Given the description of an element on the screen output the (x, y) to click on. 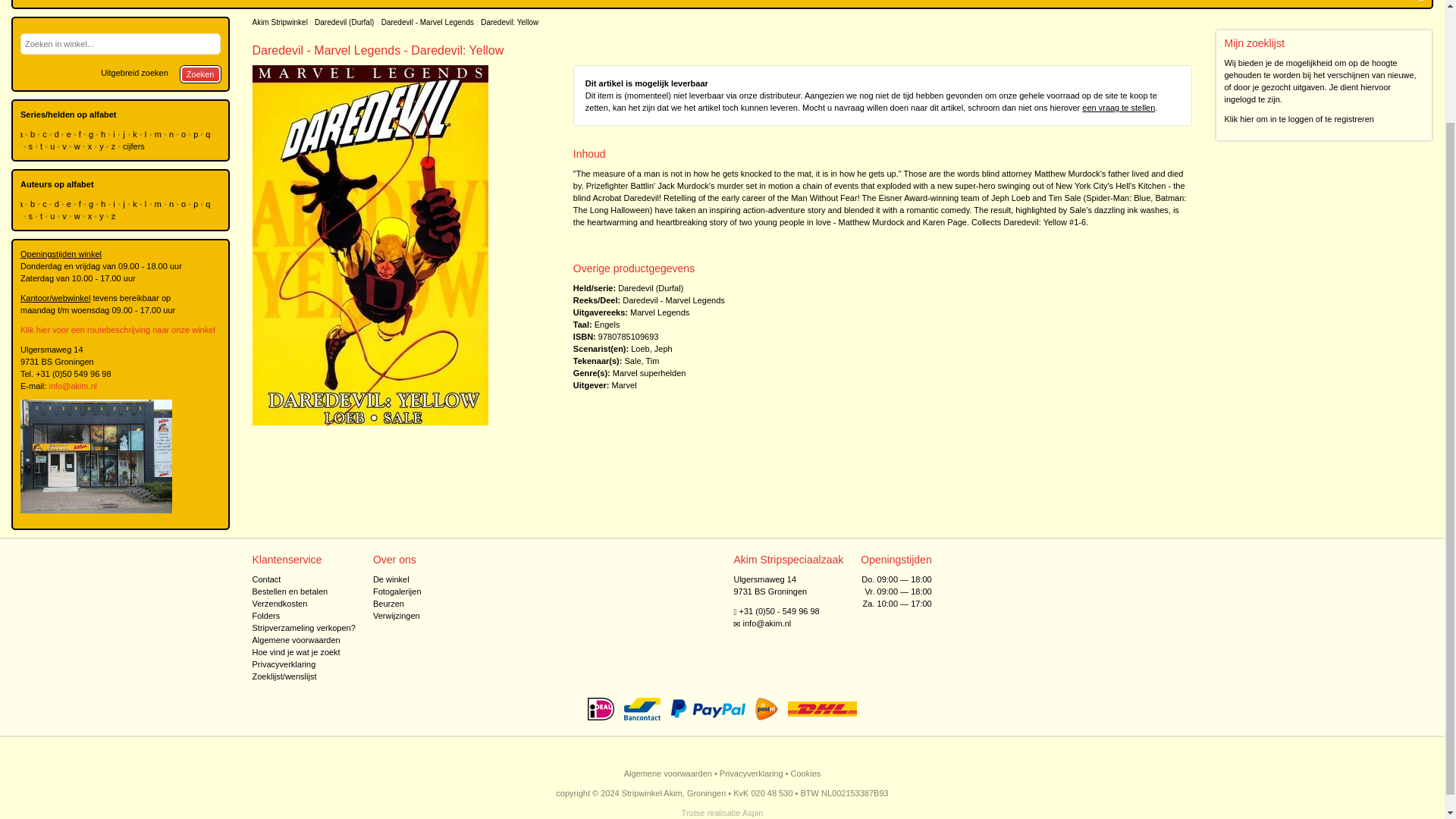
een vraag te stellen (1117, 107)
Loeb, Jeph (650, 347)
Comics (239, 3)
Daredevil - Marvel Legends (427, 22)
Uitgebreid zoeken (134, 72)
Marvel (624, 384)
Marvel superhelden (648, 372)
Daredevil - Marvel Legends (674, 299)
Aanbiedingen (451, 3)
Blog (37, 3)
Manga (199, 3)
Zoeken (200, 74)
0 (1420, 3)
Striphoesjes (386, 3)
Mijn Akim (1382, 3)
